Given the description of an element on the screen output the (x, y) to click on. 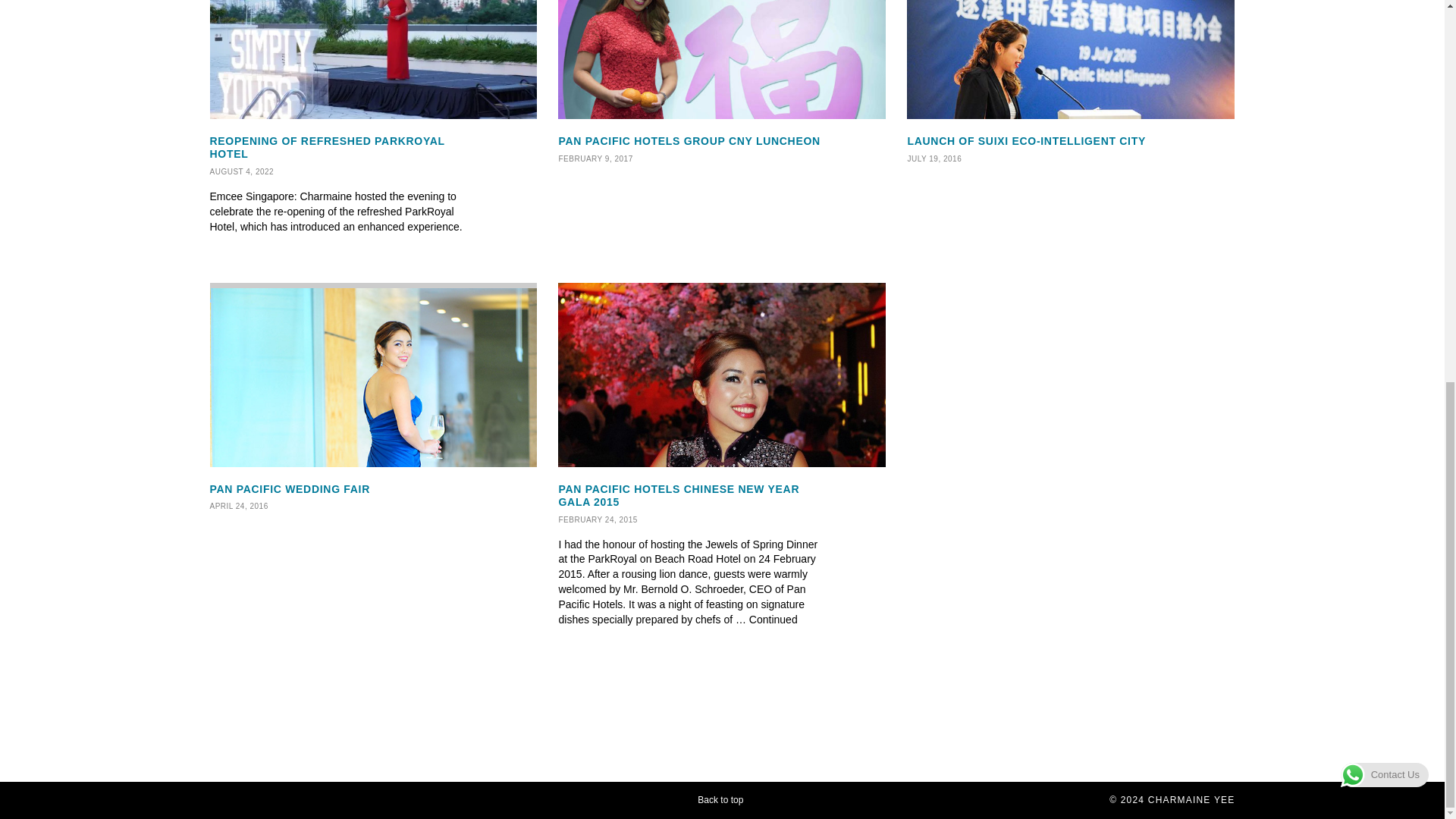
Instagram (246, 800)
Back to top (727, 799)
YouTube (278, 800)
Instagram (1070, 83)
Twitter (721, 83)
Twitter (373, 398)
